Given the description of an element on the screen output the (x, y) to click on. 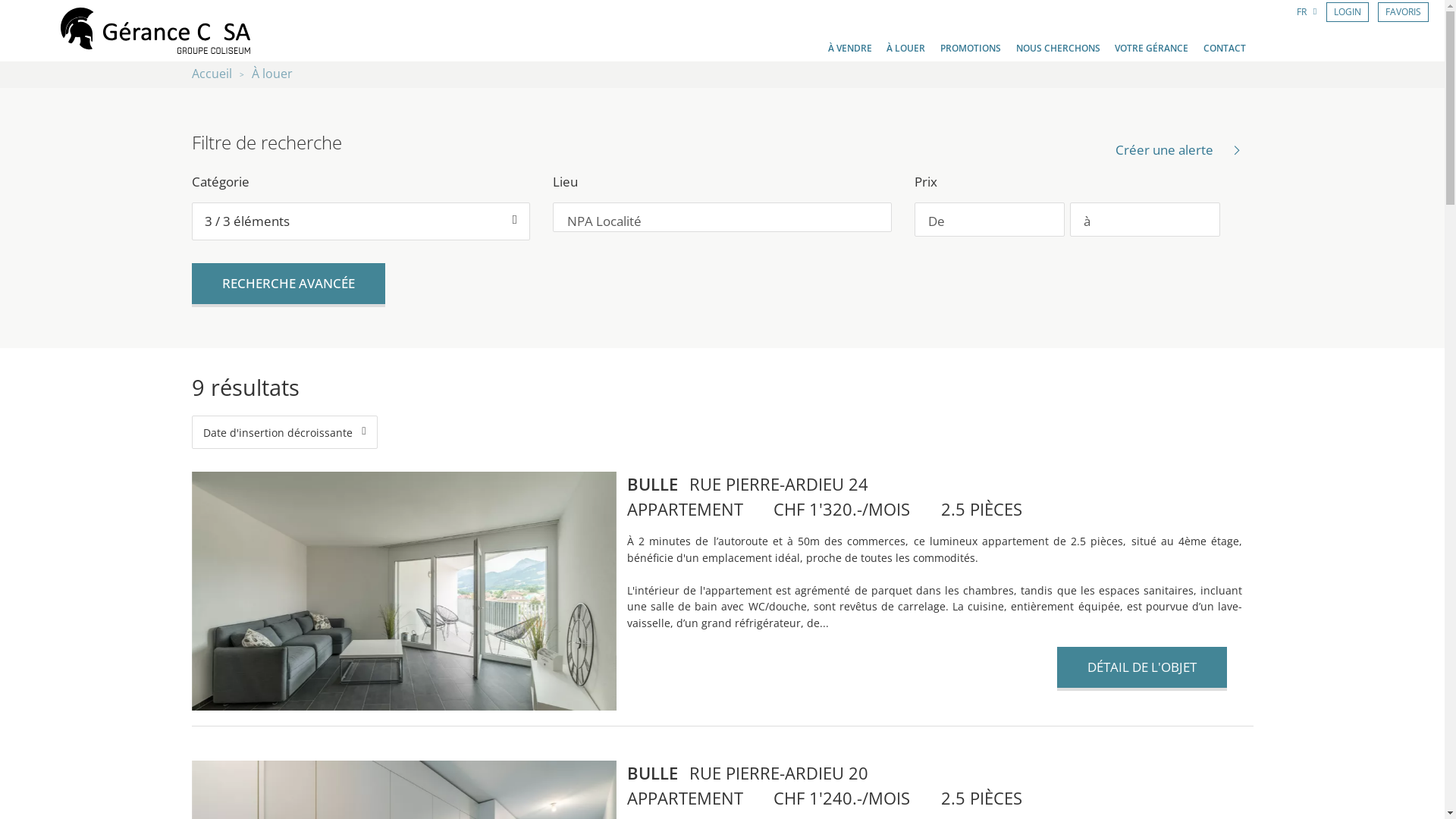
CONTACT Element type: text (1224, 47)
NOUS CHERCHONS Element type: text (1058, 47)
Accueil Element type: text (211, 74)
FAVORIS Element type: text (1403, 11)
PROMOTIONS Element type: text (970, 47)
LOGIN Element type: text (1347, 11)
